Given the description of an element on the screen output the (x, y) to click on. 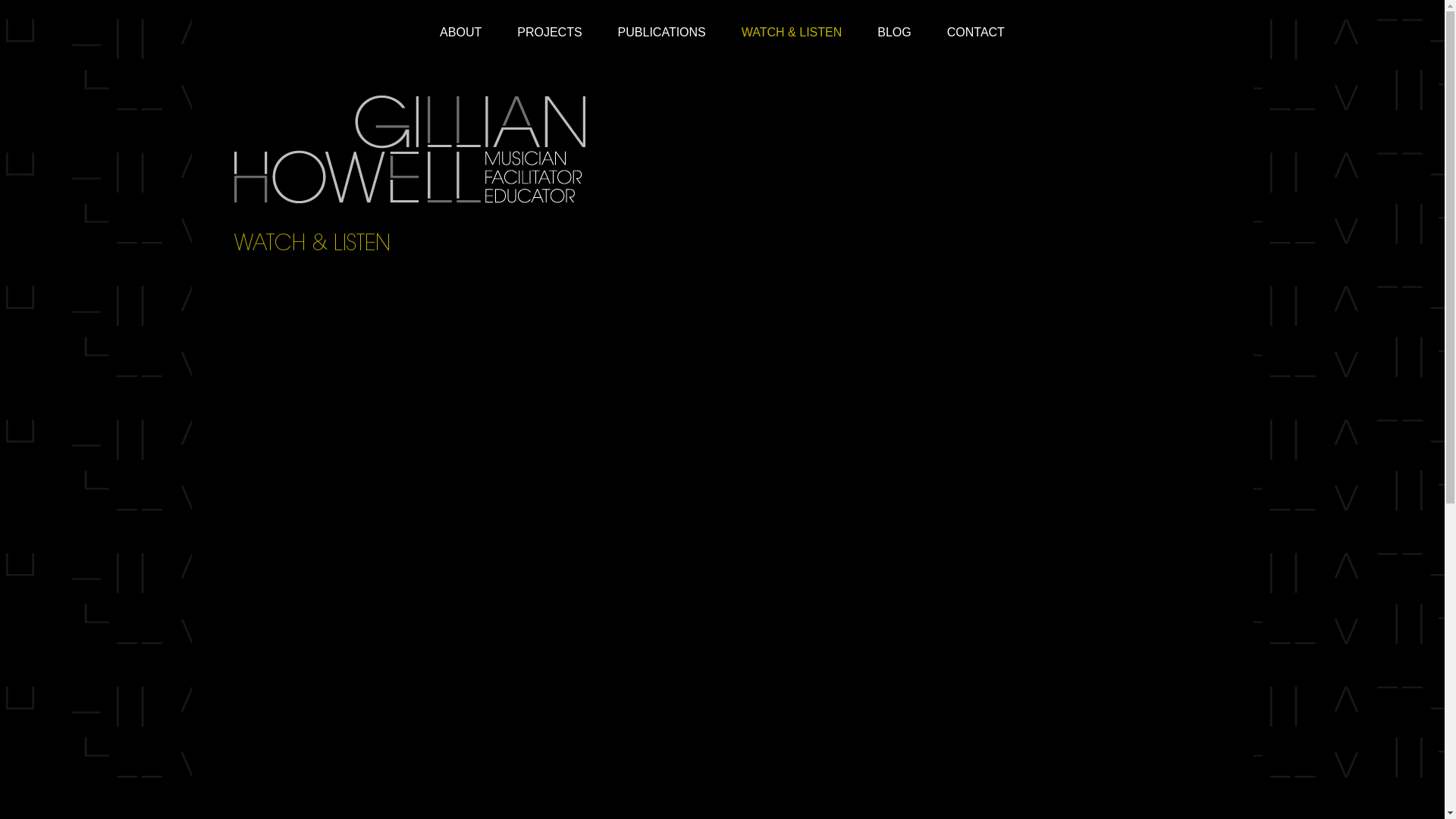
ABOUT Element type: text (460, 43)
WATCH & LISTEN Element type: text (791, 43)
PUBLICATIONS Element type: text (661, 43)
BLOG Element type: text (893, 43)
CONTACT Element type: text (975, 43)
PROJECTS Element type: text (549, 43)
